Given the description of an element on the screen output the (x, y) to click on. 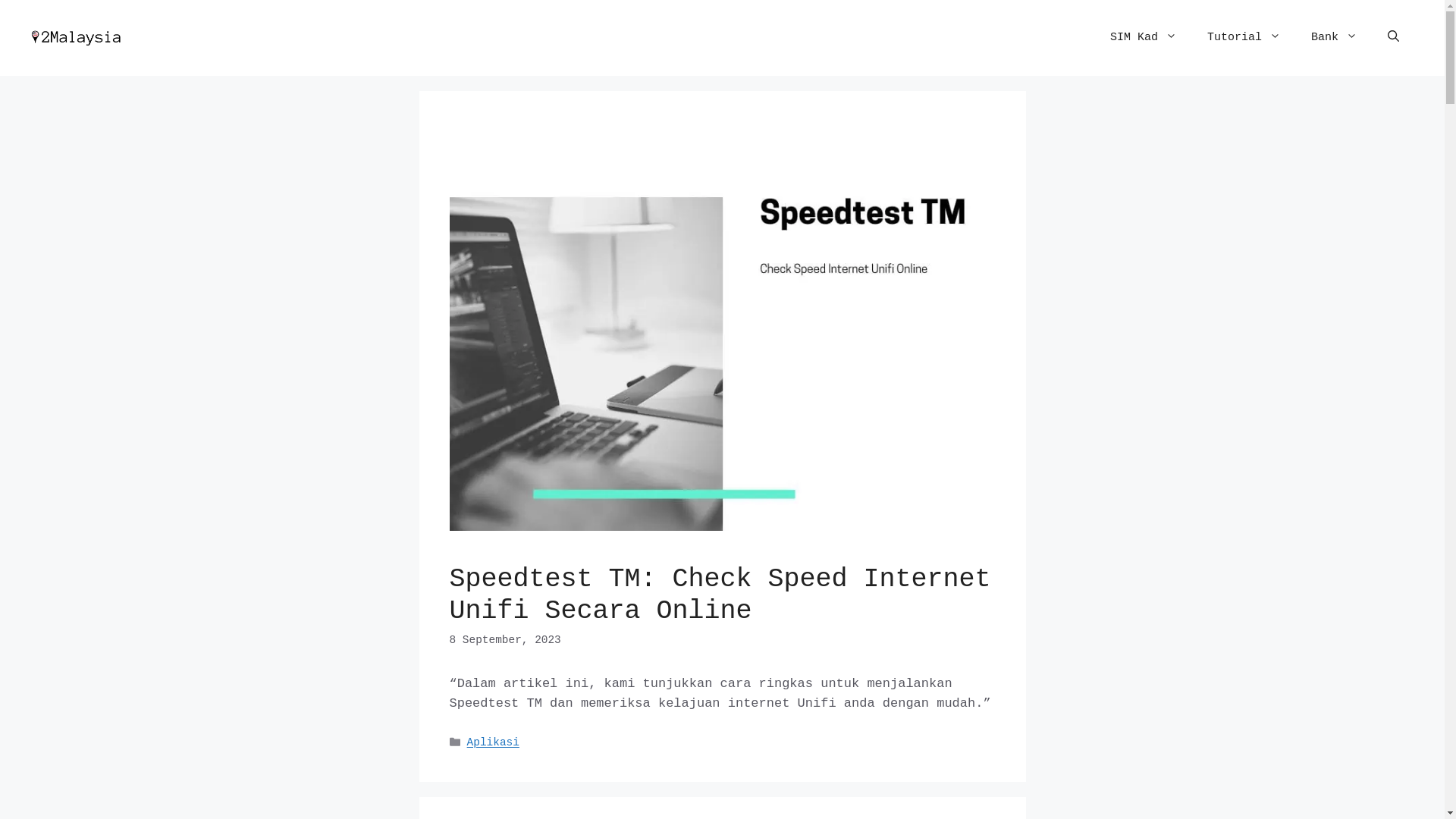
SIM Kad Element type: text (1143, 37)
Aplikasi Element type: text (493, 743)
Bank Element type: text (1333, 37)
Speedtest TM: Check Speed Internet Unifi Secara Online Element type: text (719, 595)
Tutorial Element type: text (1243, 37)
